Given the description of an element on the screen output the (x, y) to click on. 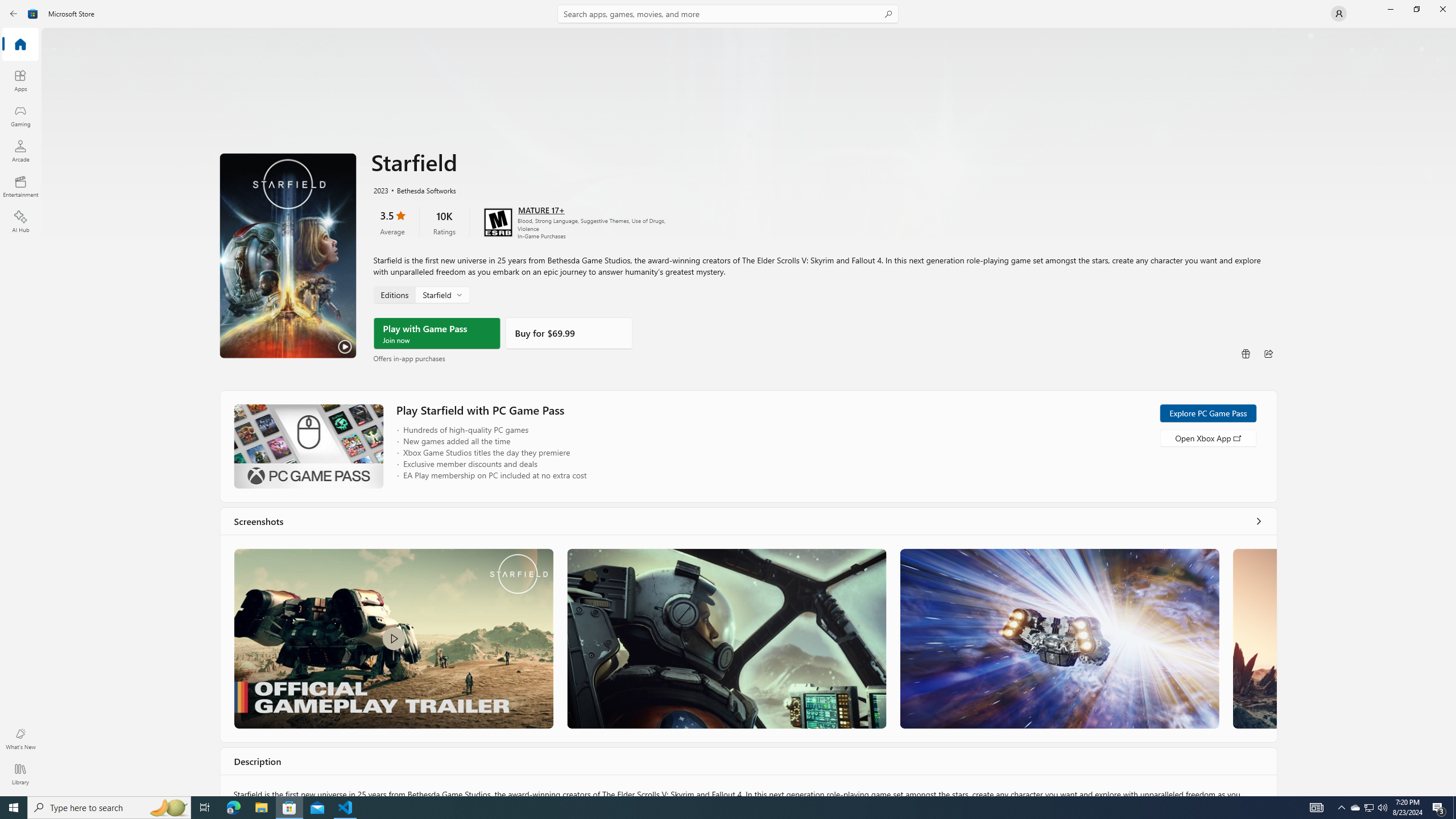
Gaming (20, 115)
User profile (1338, 13)
Apps (20, 80)
Class: Image (393, 638)
Entertainment (20, 185)
Play Trailer (287, 255)
Buy (568, 332)
Restore Microsoft Store (1416, 9)
Search (727, 13)
3.5 stars. Click to skip to ratings and reviews (392, 221)
Explore PC Game Pass (1207, 412)
Bethesda Softworks (420, 189)
Home (20, 45)
Starfield, Edition selector (421, 294)
Open Xbox App (1207, 437)
